Given the description of an element on the screen output the (x, y) to click on. 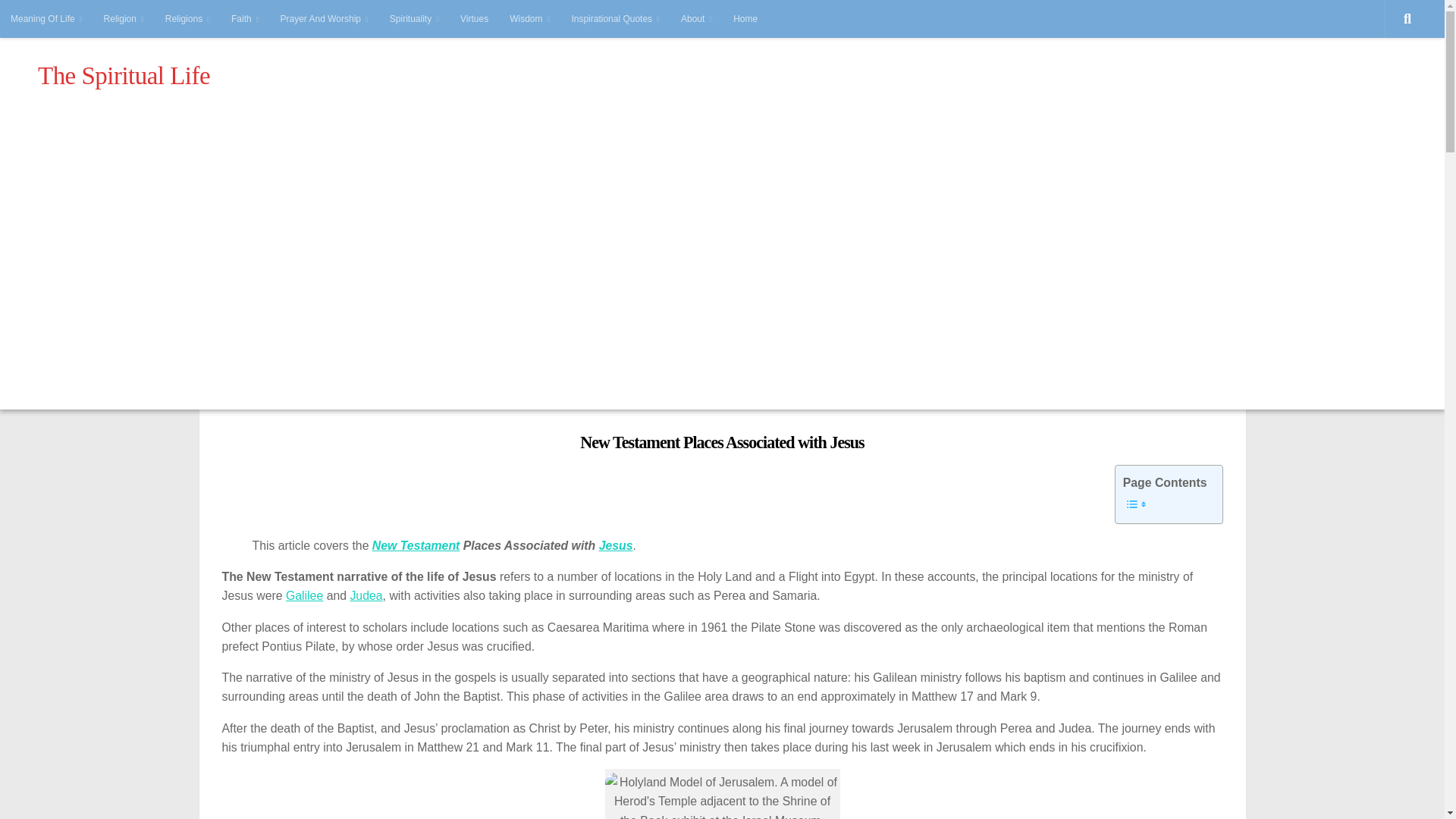
Skip to content (58, 19)
